Given the description of an element on the screen output the (x, y) to click on. 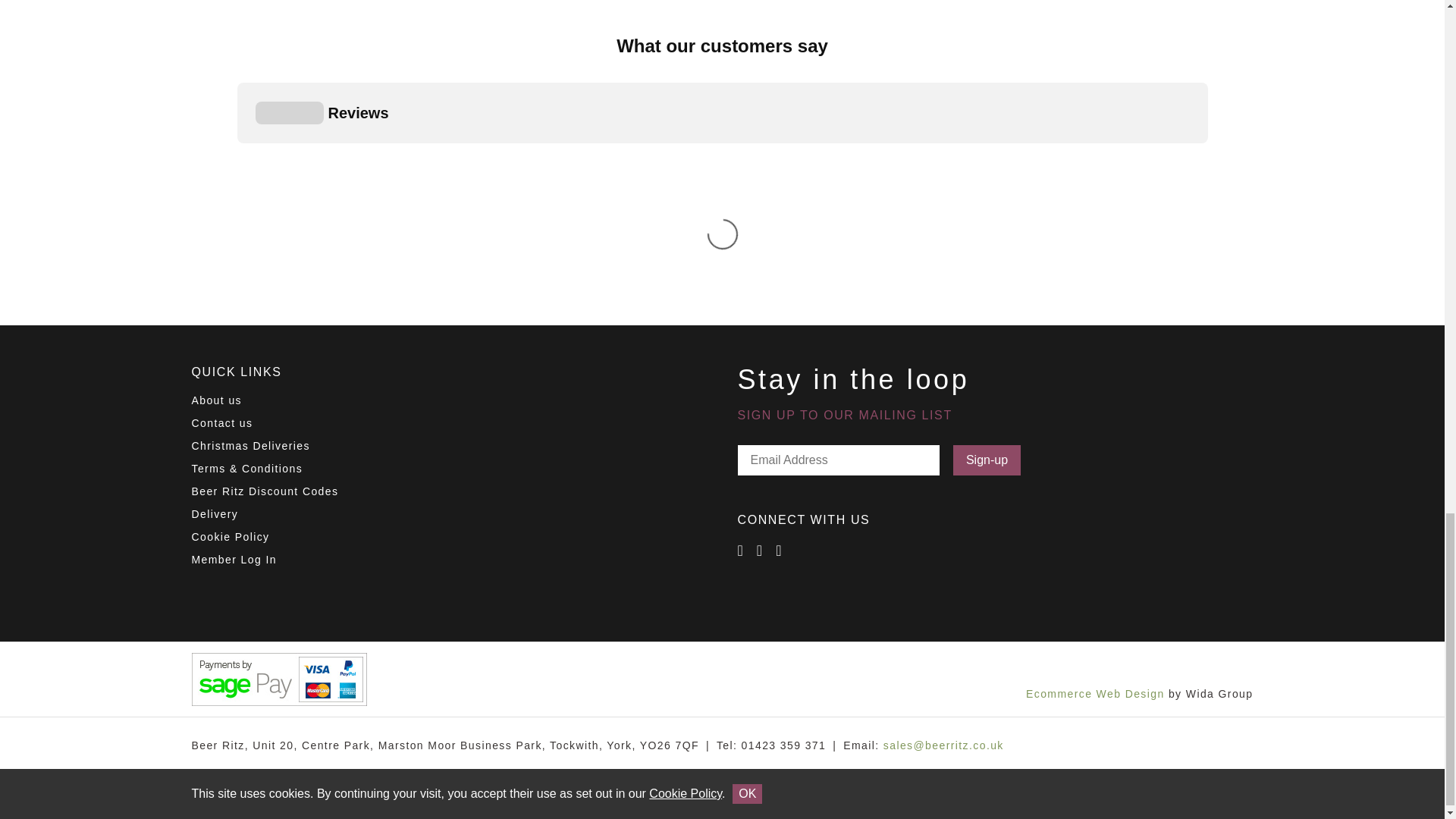
Christmas Deliveries (249, 445)
Beer Ritz Discount Codes (263, 491)
Delivery (214, 513)
About us (215, 399)
Cookie Policy (229, 536)
Sign-up (986, 460)
Member Log In (233, 559)
Contact us (220, 422)
